Given the description of an element on the screen output the (x, y) to click on. 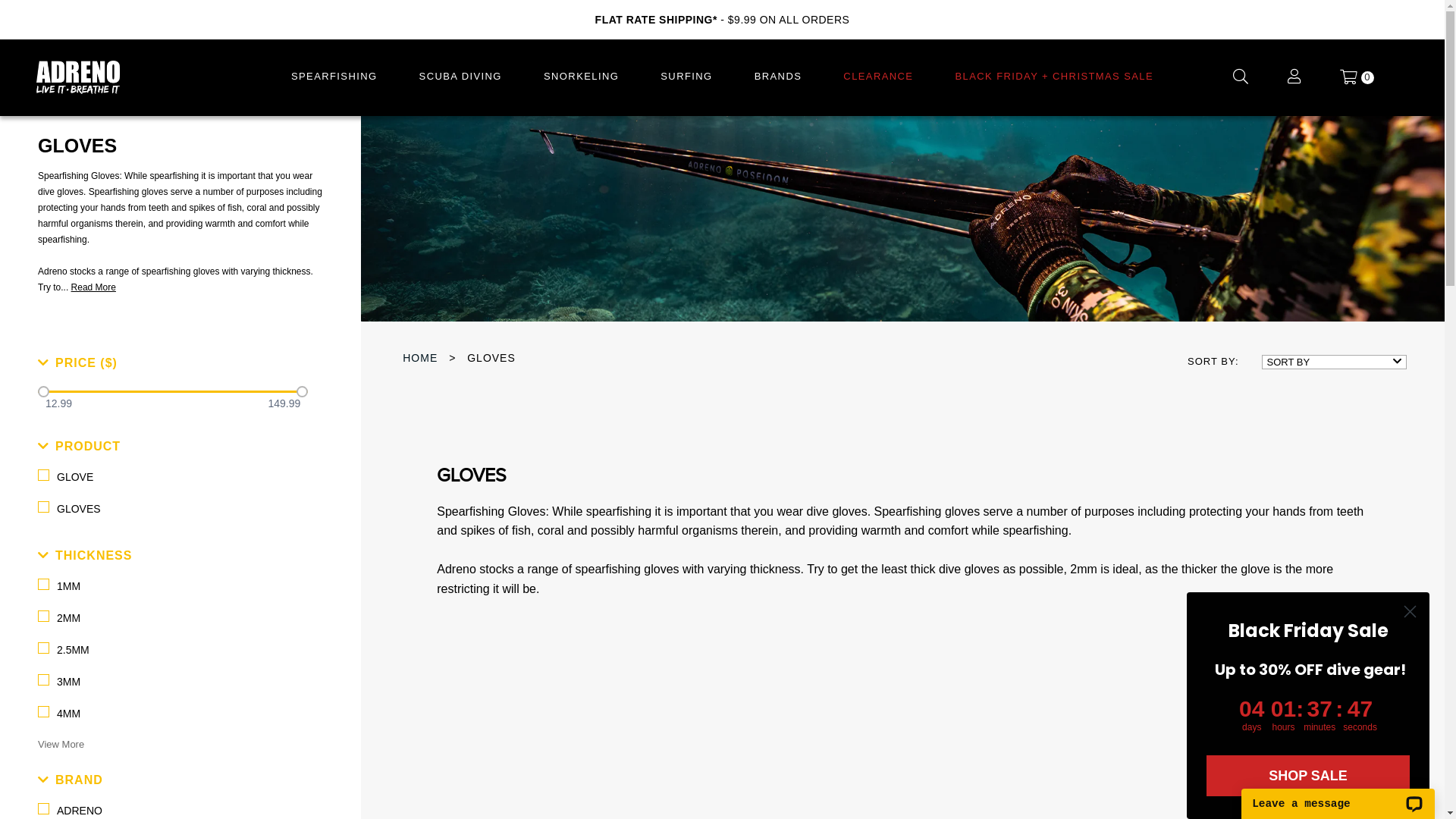
0 Element type: text (1356, 76)
3MM Element type: text (172, 681)
GLOVES Element type: text (172, 508)
2MM Element type: text (172, 617)
SHOP SALE Element type: text (1307, 775)
1MM Element type: text (172, 585)
SCUBA DIVING Element type: text (460, 76)
Read More Element type: text (93, 287)
SNORKELING Element type: text (581, 76)
SPEARFISHING Element type: text (334, 76)
FLAT RATE SHIPPING* - $9.99 ON ALL ORDERS Element type: text (722, 19)
SORT BY Element type: text (1333, 361)
Submit Element type: text (25, 9)
BLACK FRIDAY + CHRISTMAS SALE Element type: text (1054, 76)
BRANDS Element type: text (777, 76)
2.5MM Element type: text (172, 649)
View More Element type: text (60, 743)
HOME Element type: text (419, 357)
CLEARANCE Element type: text (877, 76)
GLOVE Element type: text (172, 476)
SURFING Element type: text (685, 76)
4MM Element type: text (172, 713)
